Given the description of an element on the screen output the (x, y) to click on. 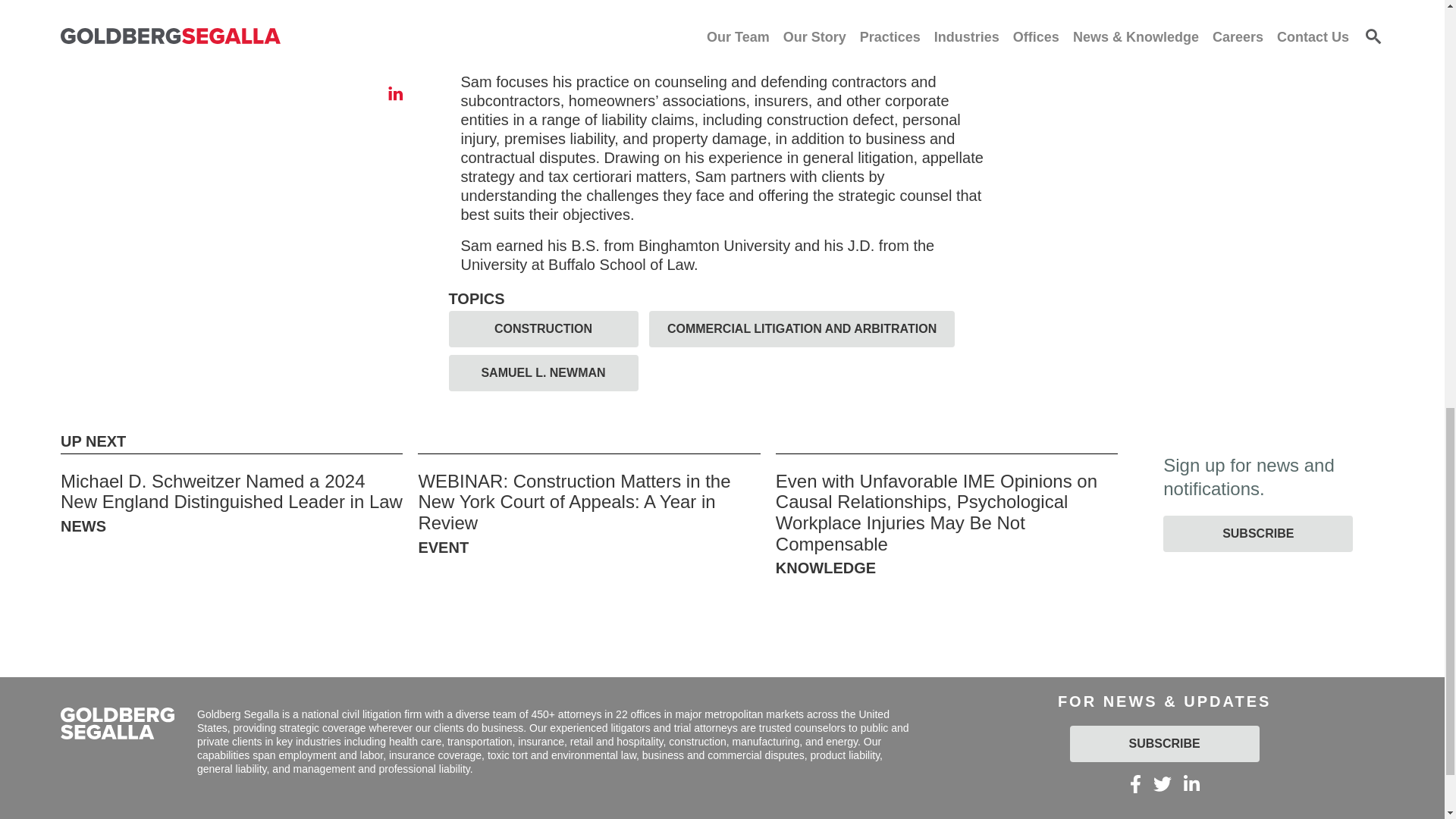
Commercial Litigation and Arbitration (818, 31)
Construction Litigation and Counsel (704, 22)
SUBSCRIBE (1164, 743)
COMMERCIAL LITIGATION AND ARBITRATION (802, 329)
Samuel L. Newman (697, 12)
SUBSCRIBE (1257, 533)
SAMUEL L. NEWMAN (543, 372)
CONSTRUCTION (543, 329)
